Given the description of an element on the screen output the (x, y) to click on. 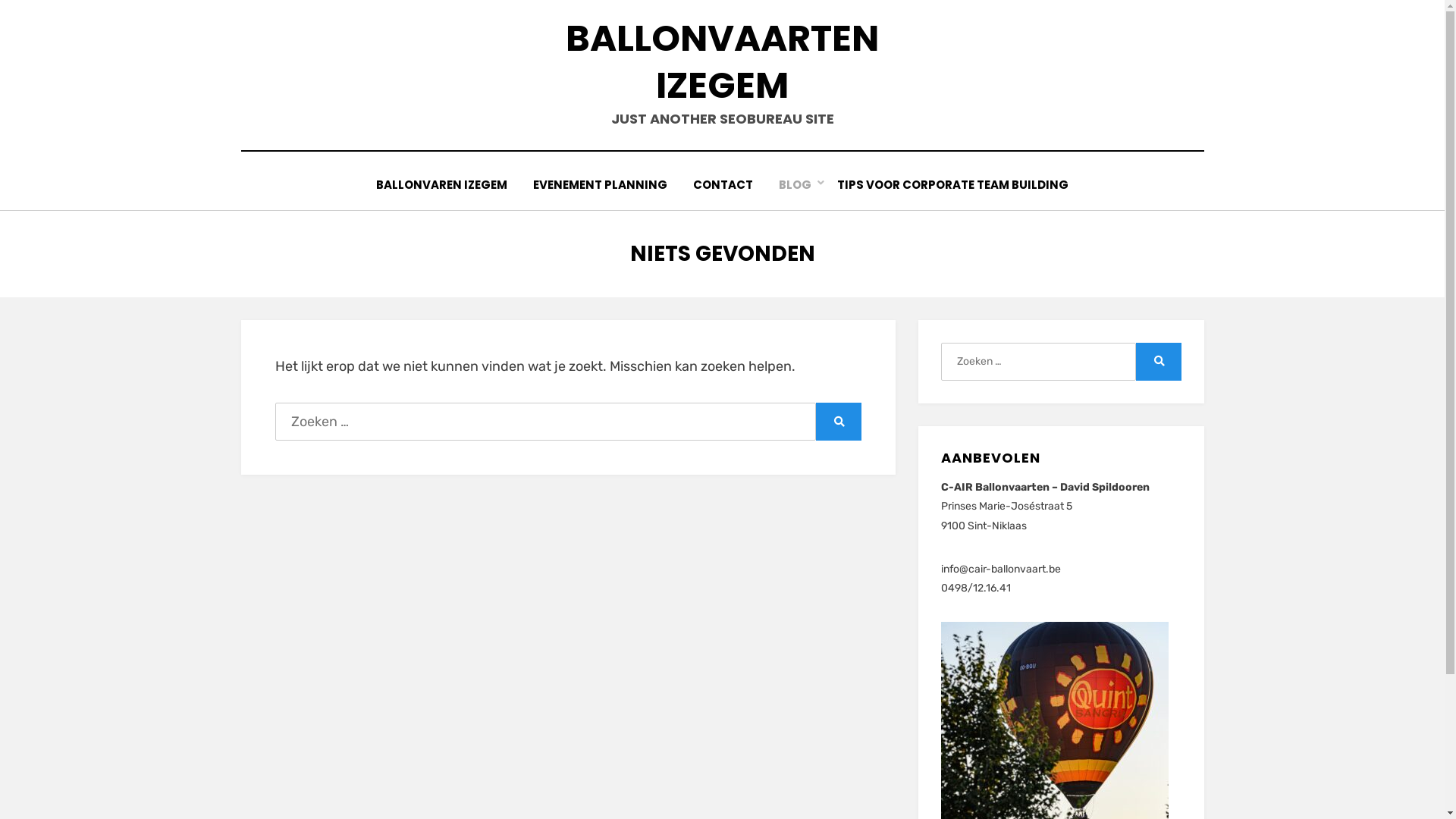
info@cair-ballonvaart.be Element type: text (1000, 568)
0498/12.16.41 Element type: text (975, 587)
TIPS VOOR CORPORATE TEAM BUILDING Element type: text (952, 184)
BALLONVAARTEN IZEGEM Element type: text (721, 61)
EVENEMENT PLANNING Element type: text (600, 184)
Zoeken naar: Element type: hover (544, 421)
Zoeken naar: Element type: hover (1038, 361)
Zoeken Element type: text (838, 421)
Zoeken Element type: text (1158, 361)
BALLONVAREN IZEGEM Element type: text (441, 184)
BLOG Element type: text (794, 184)
CONTACT Element type: text (722, 184)
